Given the description of an element on the screen output the (x, y) to click on. 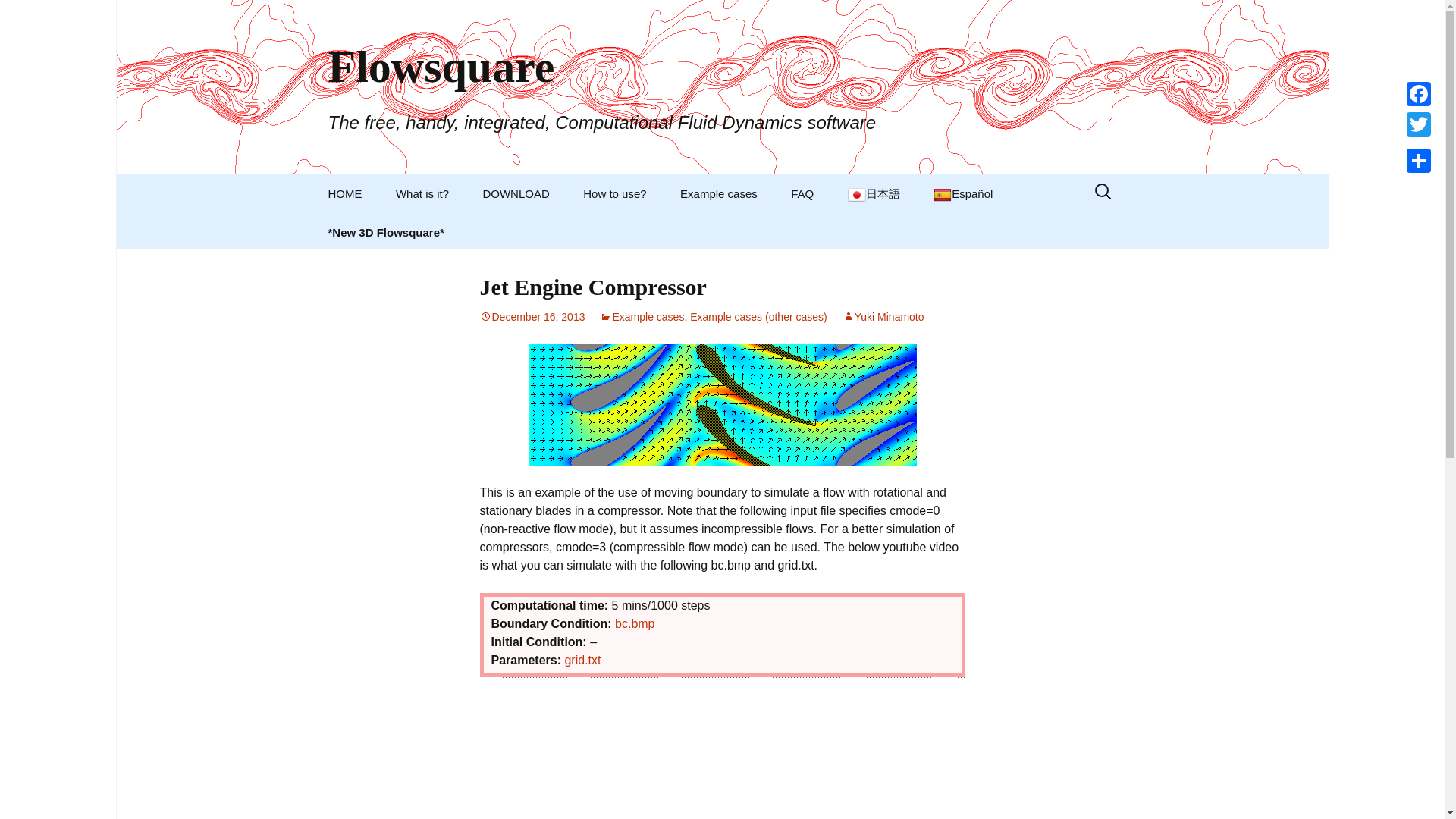
Yuki Minamoto (883, 316)
December 16, 2013 (532, 316)
What is it? (422, 193)
Skip to content (353, 183)
Permalink to Jet Engine Compressor (532, 316)
Skip to content (353, 183)
FAQ (802, 193)
Search for: (1103, 191)
DOWNLOAD (515, 193)
HOME (345, 193)
